Given the description of an element on the screen output the (x, y) to click on. 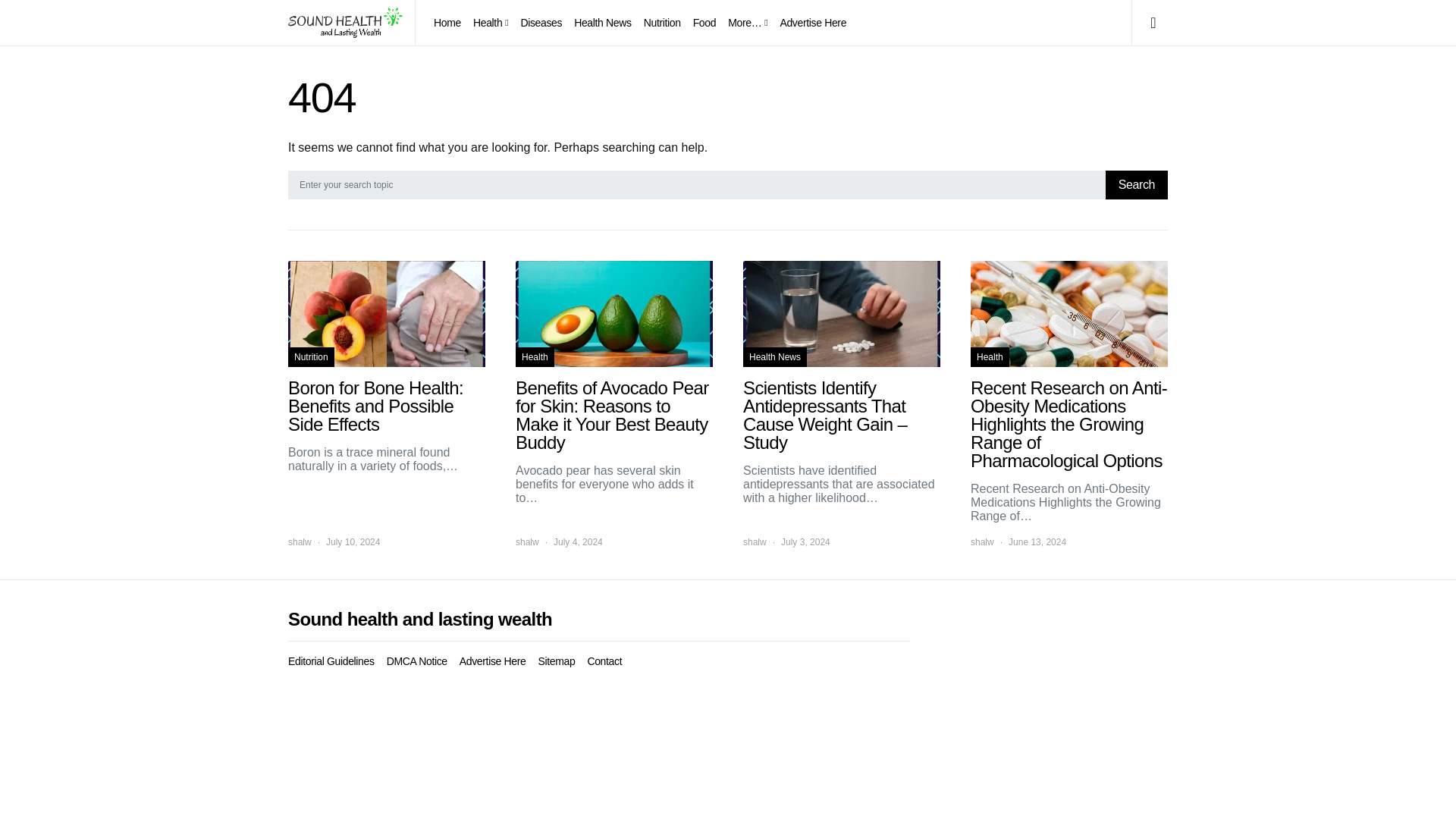
Search (1136, 184)
Nutrition (662, 22)
Advertise Here (809, 22)
View all posts by shalw (754, 541)
Health (534, 356)
shalw (299, 541)
View all posts by shalw (982, 541)
Nutrition (311, 356)
View all posts by shalw (299, 541)
View all posts by shalw (526, 541)
Diseases (540, 22)
Health (490, 22)
Health News (602, 22)
